Given the description of an element on the screen output the (x, y) to click on. 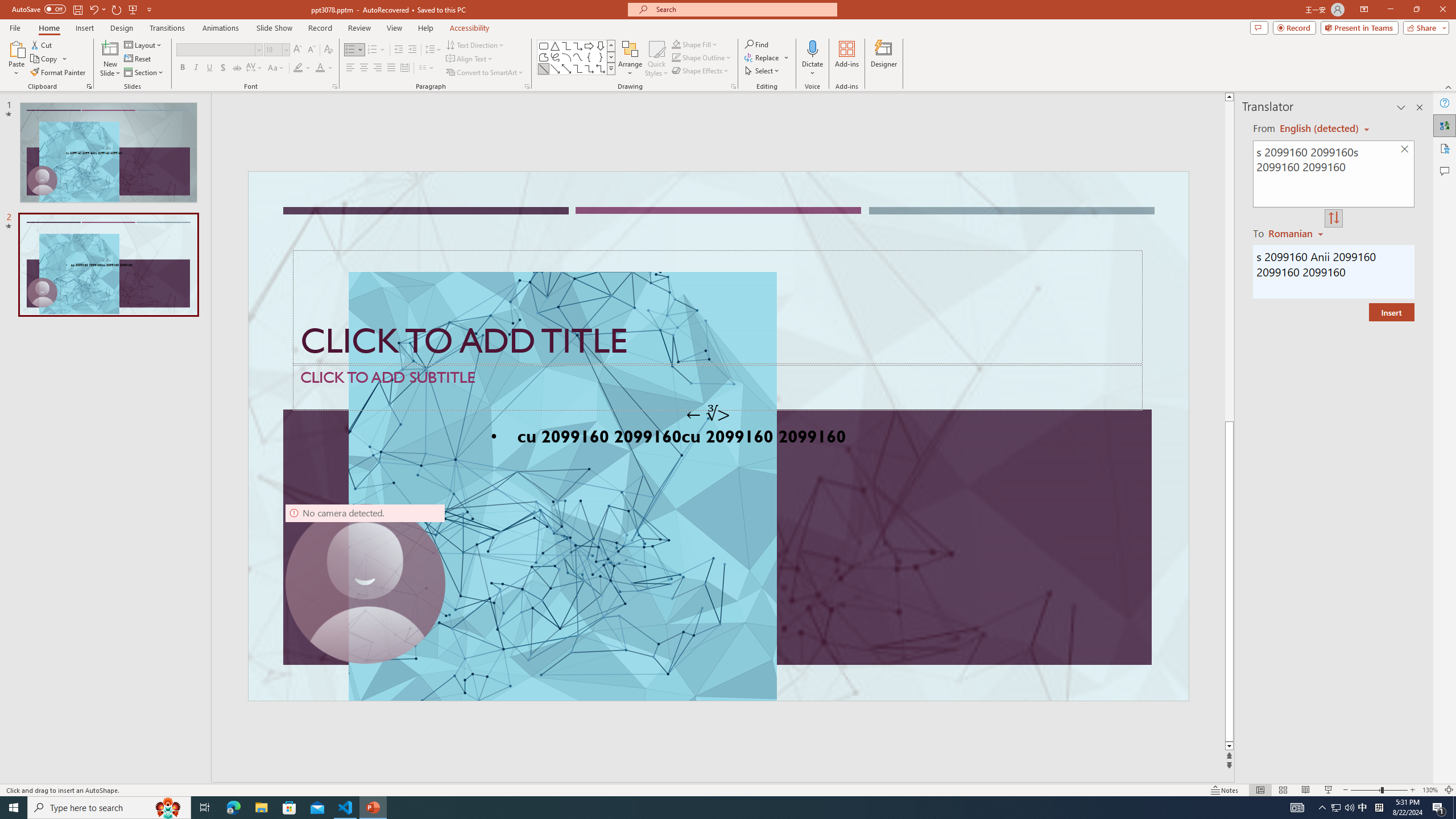
Czech (1296, 232)
TextBox 7 (708, 414)
